Given the description of an element on the screen output the (x, y) to click on. 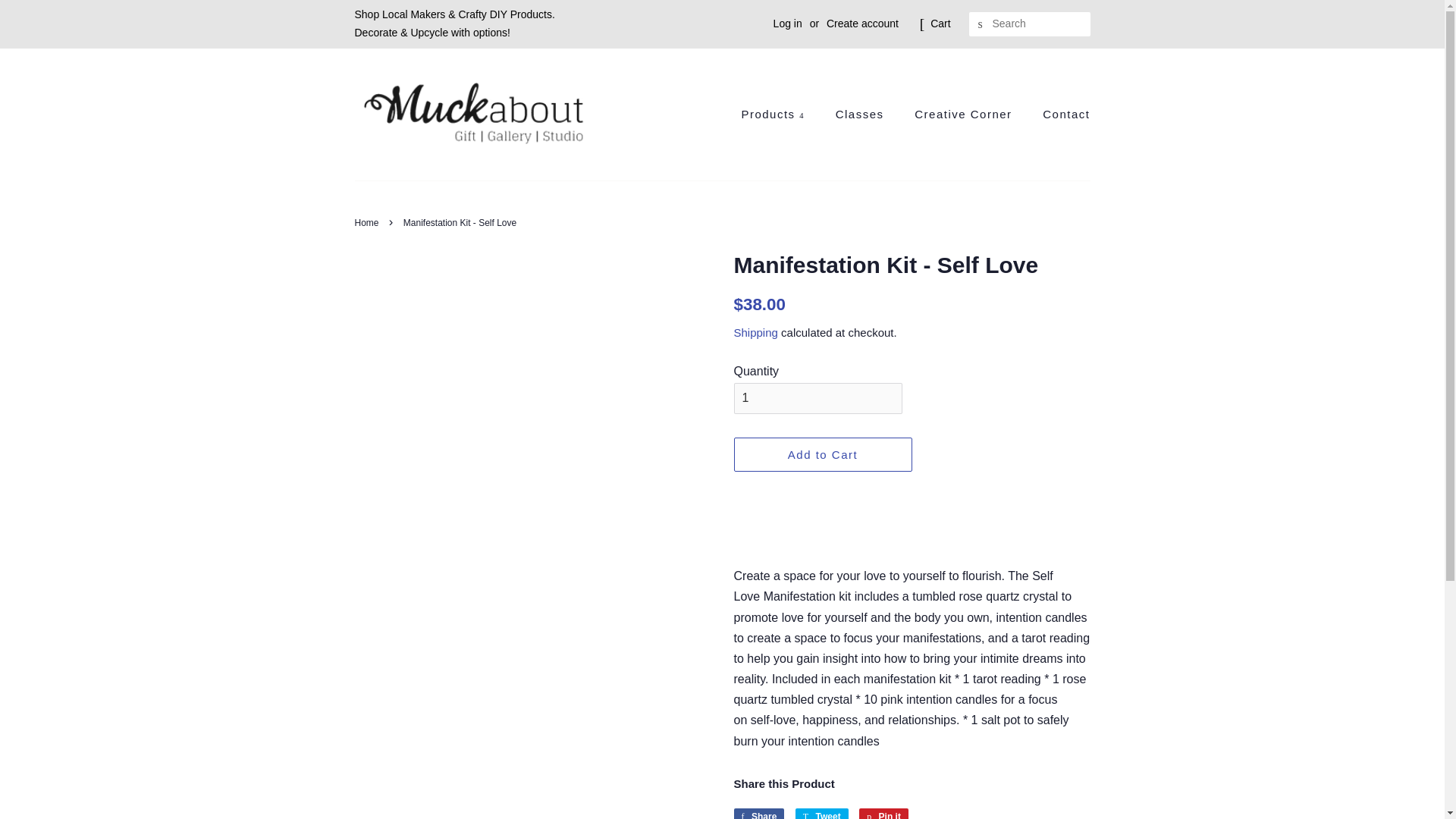
Share on Facebook (758, 813)
Creative Corner (964, 114)
Products (780, 114)
Tweet on Twitter (821, 813)
Log in (787, 23)
Back to the frontpage (368, 222)
Add to Cart (822, 454)
Create account (862, 23)
Cart (940, 24)
Search (980, 24)
Shipping (755, 332)
1 (883, 813)
Contact (821, 813)
